Given the description of an element on the screen output the (x, y) to click on. 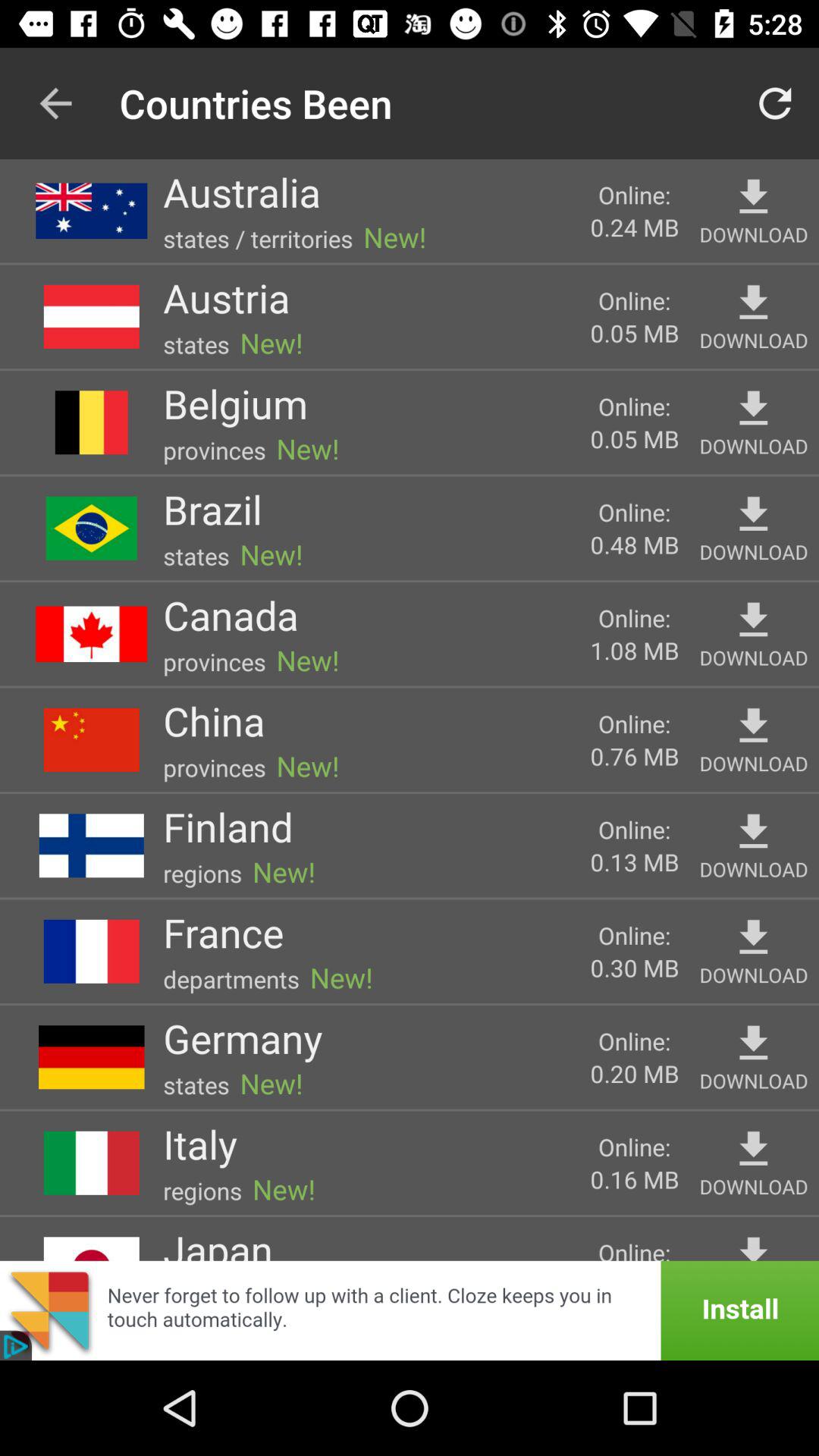
download finland map (753, 831)
